Given the description of an element on the screen output the (x, y) to click on. 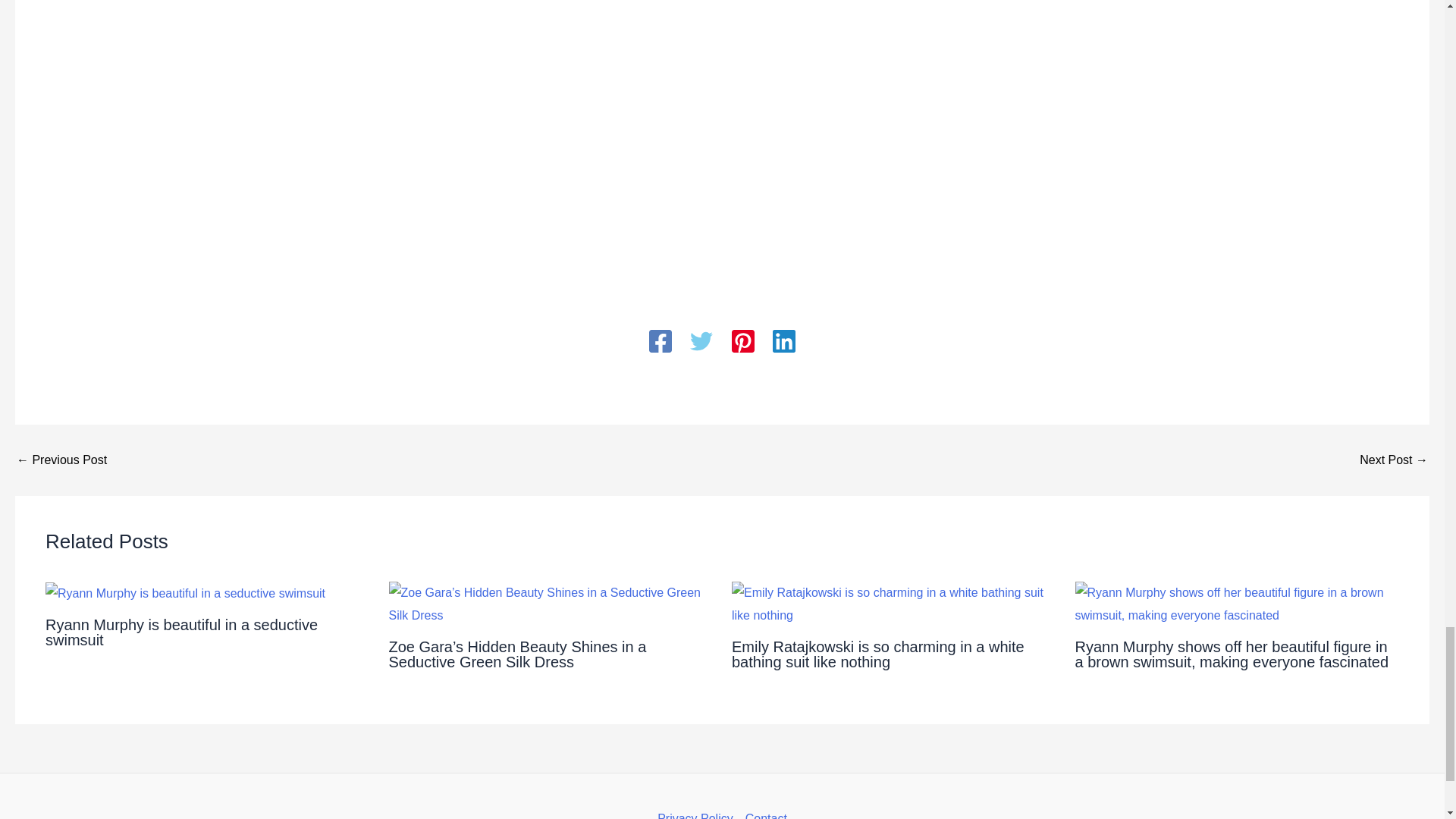
Privacy Policy (698, 813)
Ryann Murphy is beautiful in a seductive swimsuit (181, 632)
Contact (763, 813)
